Given the description of an element on the screen output the (x, y) to click on. 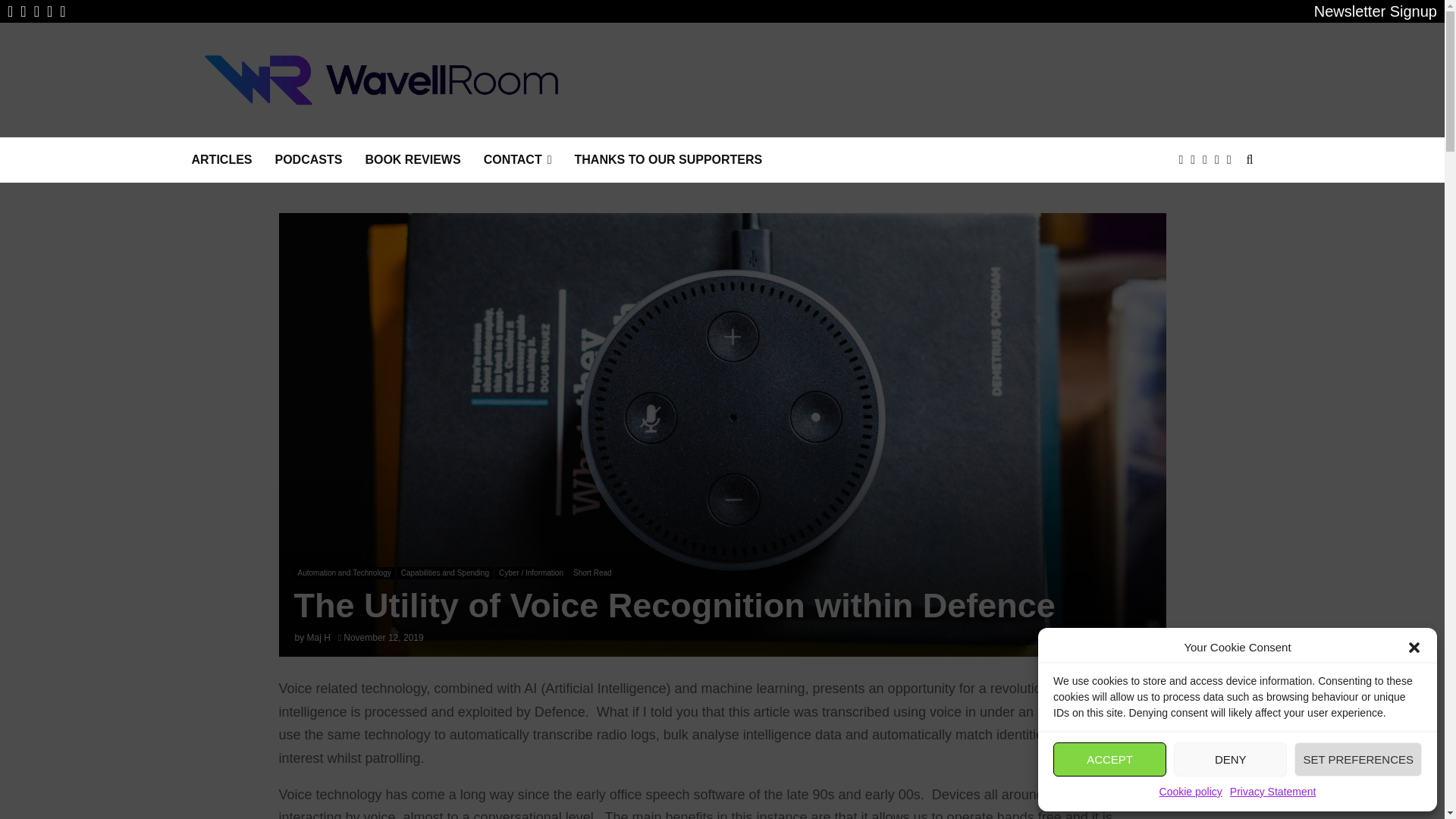
DENY (1230, 759)
Newsletter Signup (1375, 11)
Automation and Technology (344, 573)
ARTICLES (220, 159)
THANKS TO OUR SUPPORTERS (668, 159)
PODCASTS (308, 159)
Privacy Statement (1273, 791)
SET PREFERENCES (1358, 759)
CONTACT (517, 159)
Cookie policy (1190, 791)
